Given the description of an element on the screen output the (x, y) to click on. 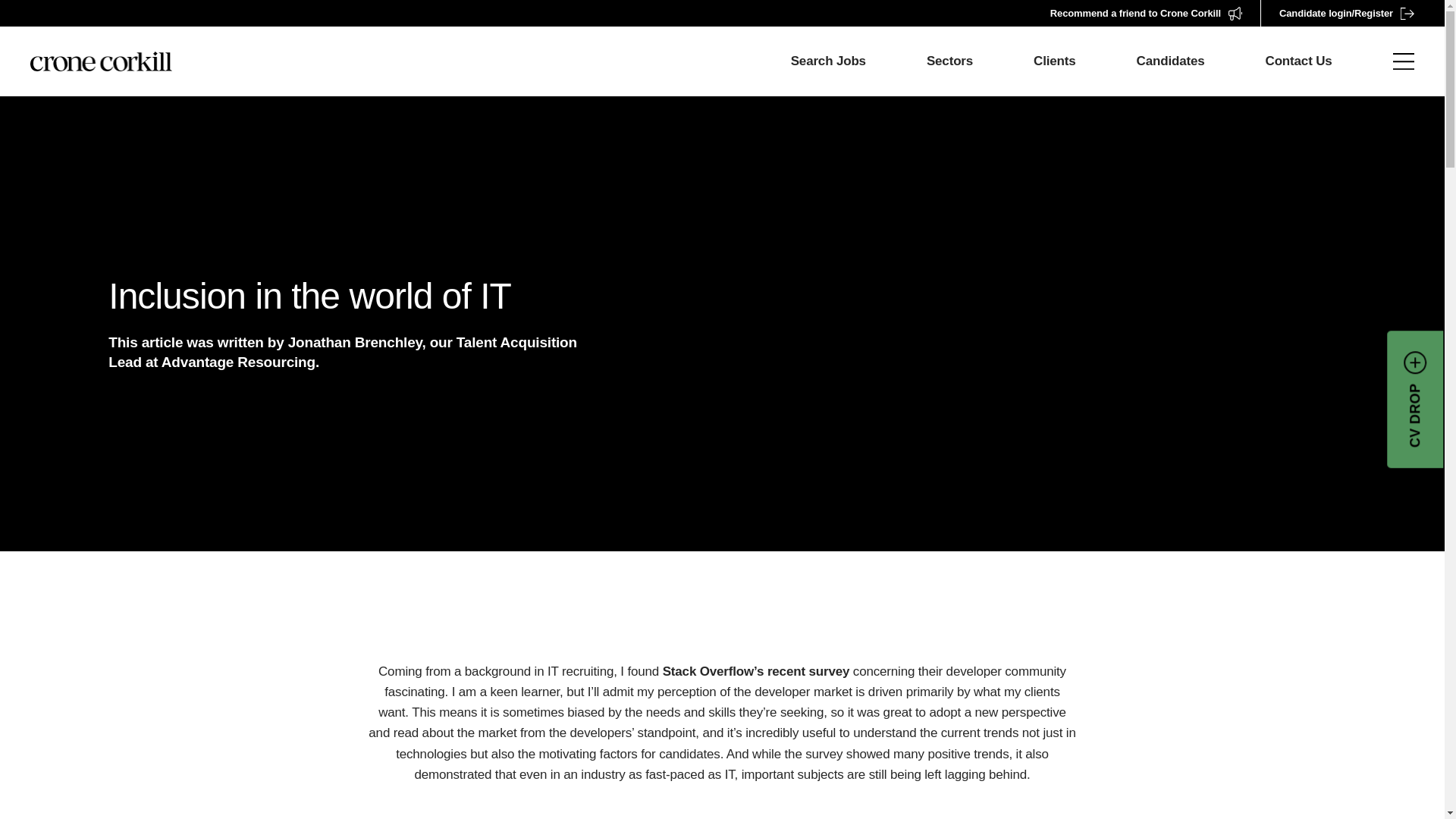
Candidates (1171, 61)
Sectors (949, 61)
Clients (1054, 61)
Recommend a friend to Crone Corkill (1154, 13)
Contact Us (1298, 61)
Search Jobs (828, 61)
